Given the description of an element on the screen output the (x, y) to click on. 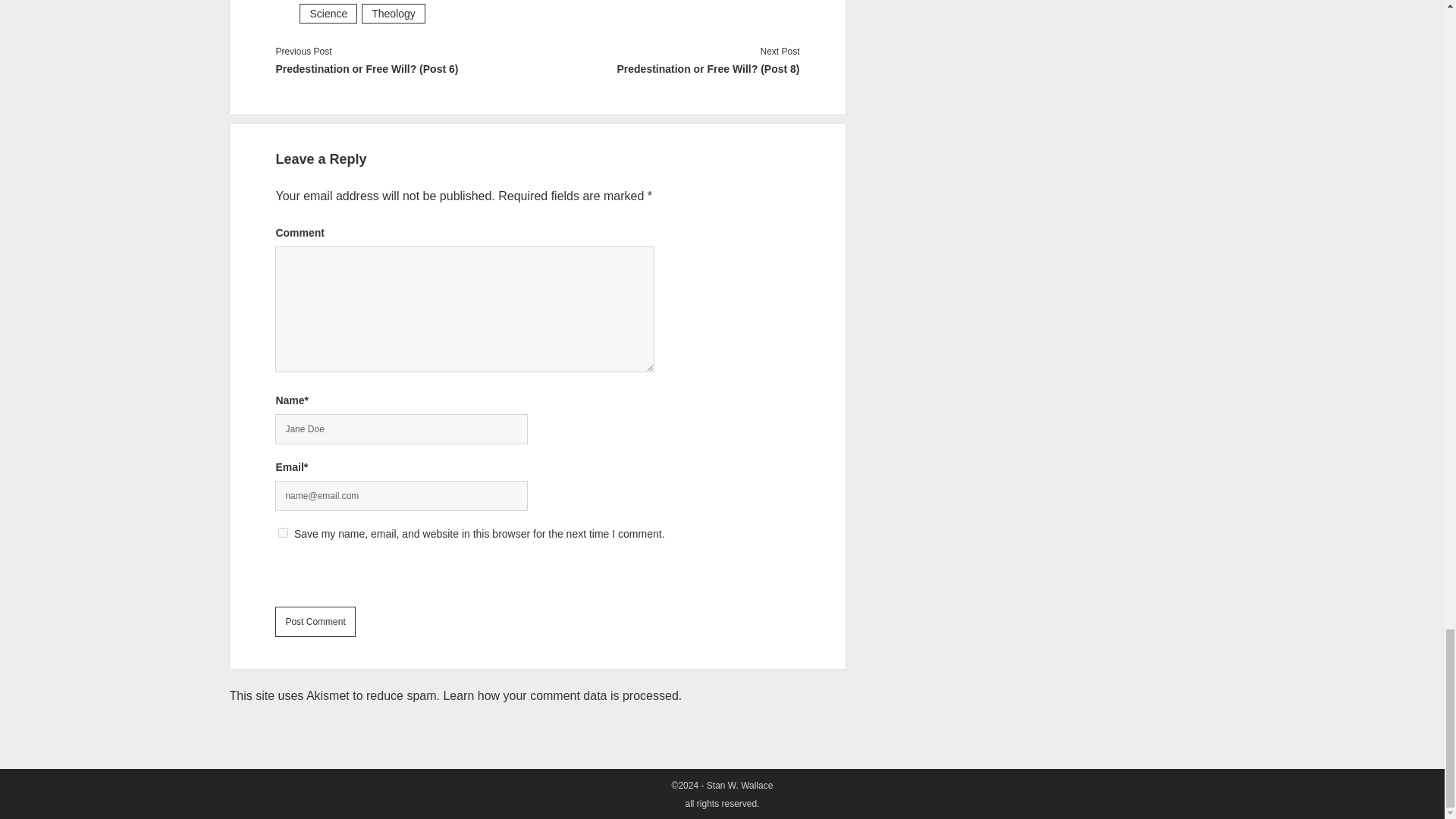
Learn how your comment data is processed (560, 695)
Science (327, 13)
Post Comment (315, 621)
Theology (393, 13)
View all posts tagged Science (327, 13)
yes (283, 532)
View all posts tagged Theology (393, 13)
Post Comment (315, 621)
